Given the description of an element on the screen output the (x, y) to click on. 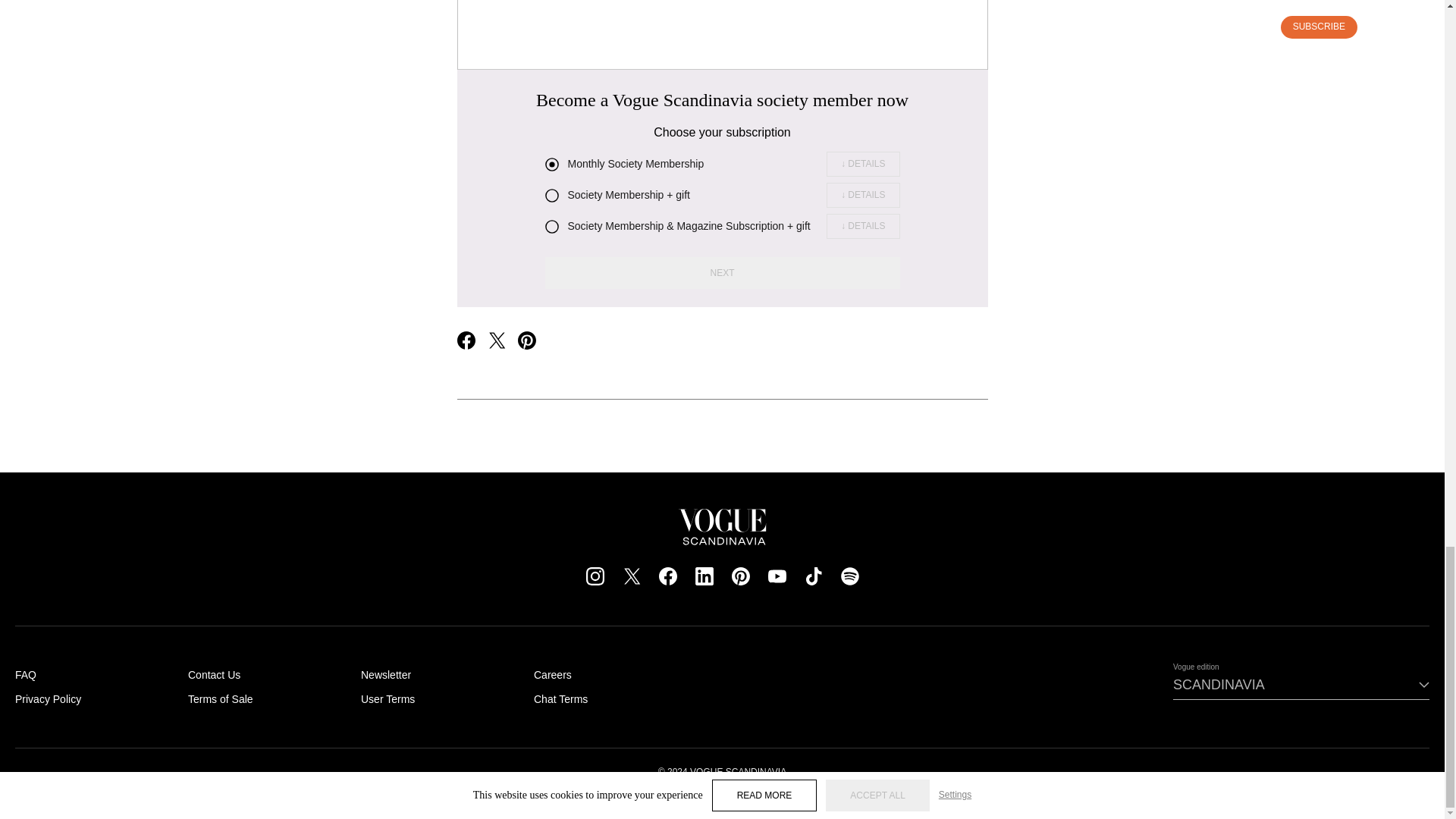
Newsletter (385, 674)
Privacy Policy (47, 698)
Contact Us (213, 674)
User Terms (387, 698)
NEXT (721, 273)
Careers (553, 674)
FAQ (25, 674)
Terms of Sale (220, 698)
Chat Terms (561, 698)
